Given the description of an element on the screen output the (x, y) to click on. 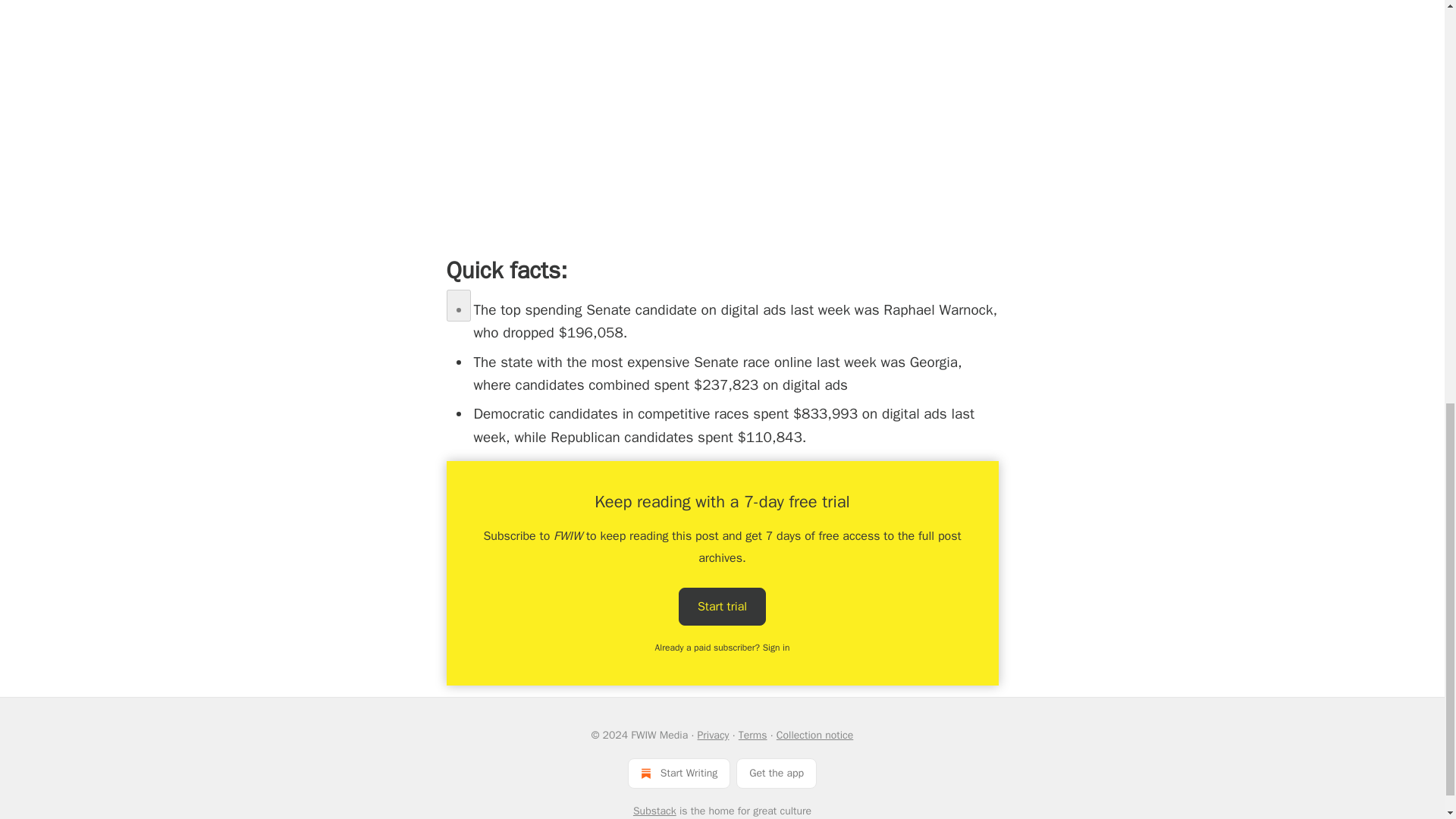
Start Writing (678, 773)
Start trial (721, 606)
Get the app (776, 773)
Privacy (713, 735)
Substack (655, 810)
Start trial (721, 606)
Terms (752, 735)
Collection notice (814, 735)
Already a paid subscriber? Sign in (722, 647)
